Given the description of an element on the screen output the (x, y) to click on. 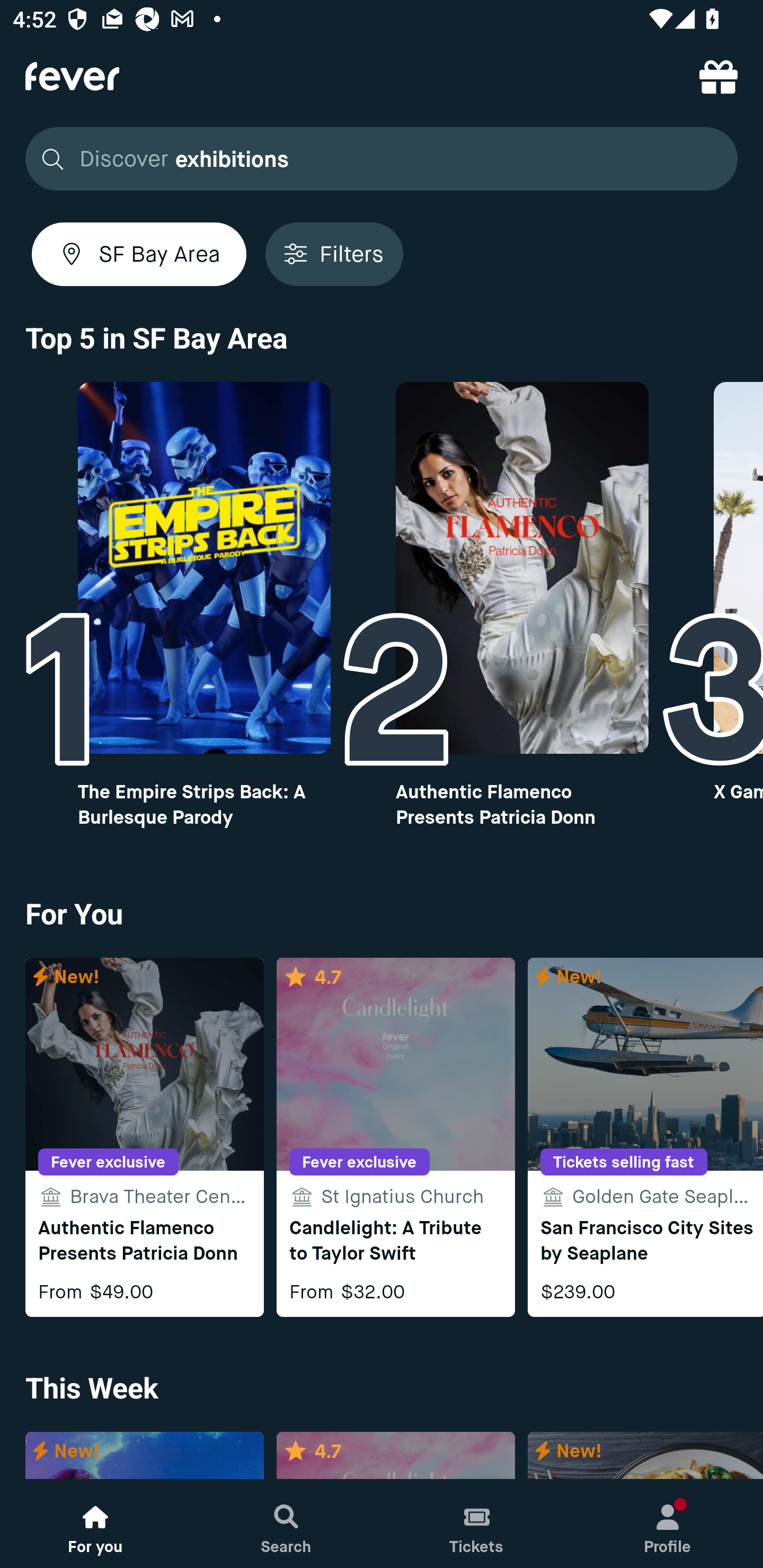
referral (718, 75)
Discover exhibitions (381, 158)
Discover exhibitions (376, 158)
SF Bay Area (139, 253)
Filters (333, 253)
Top10 image (203, 568)
Top10 image (521, 568)
Search (285, 1523)
Tickets (476, 1523)
Profile, New notification Profile (667, 1523)
